Given the description of an element on the screen output the (x, y) to click on. 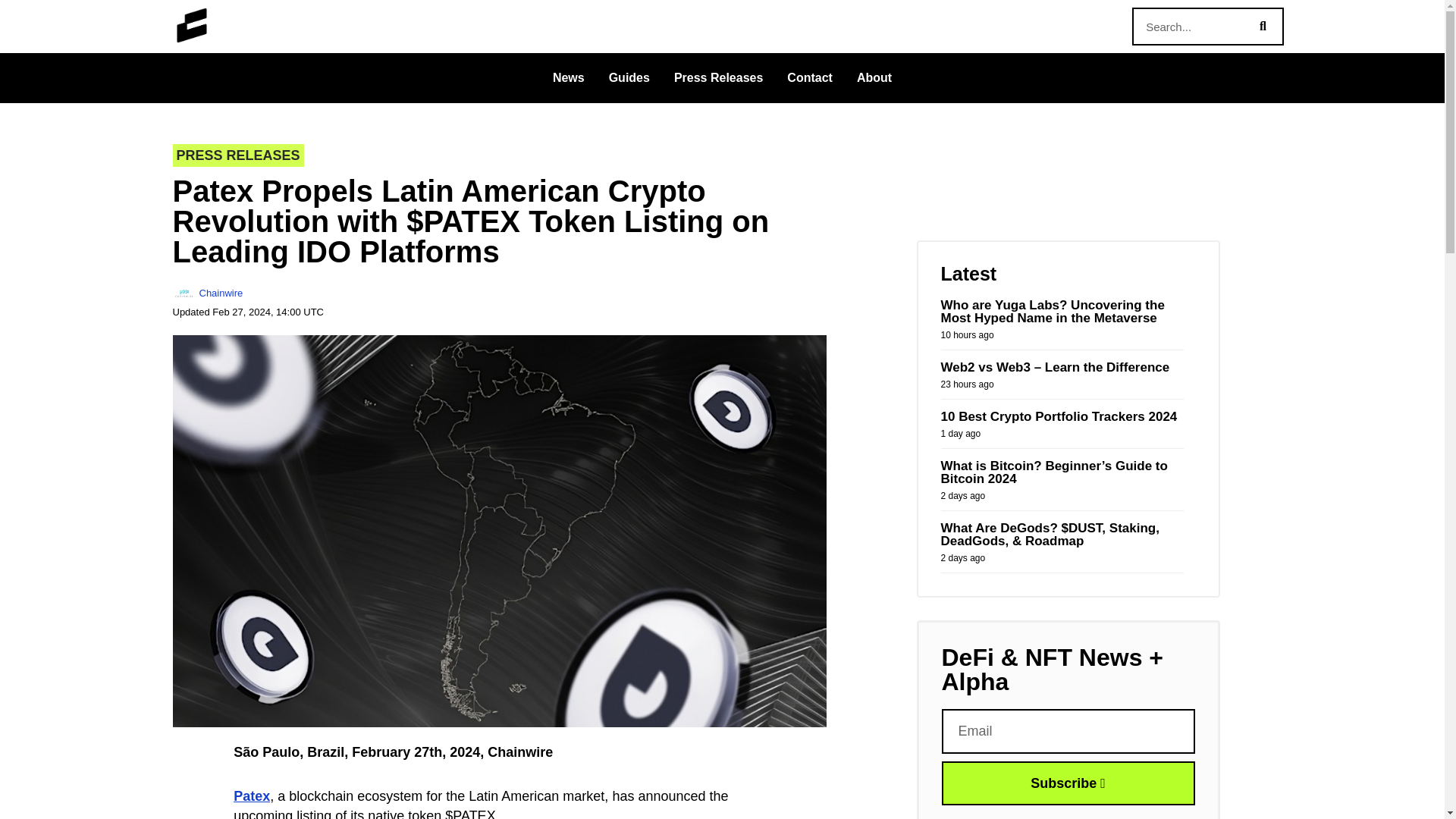
Chainwire (208, 292)
Patex (250, 795)
About (874, 77)
PRESS RELEASES (238, 155)
Press Releases (718, 77)
Contact (809, 77)
News (568, 77)
Guides (629, 77)
